Given the description of an element on the screen output the (x, y) to click on. 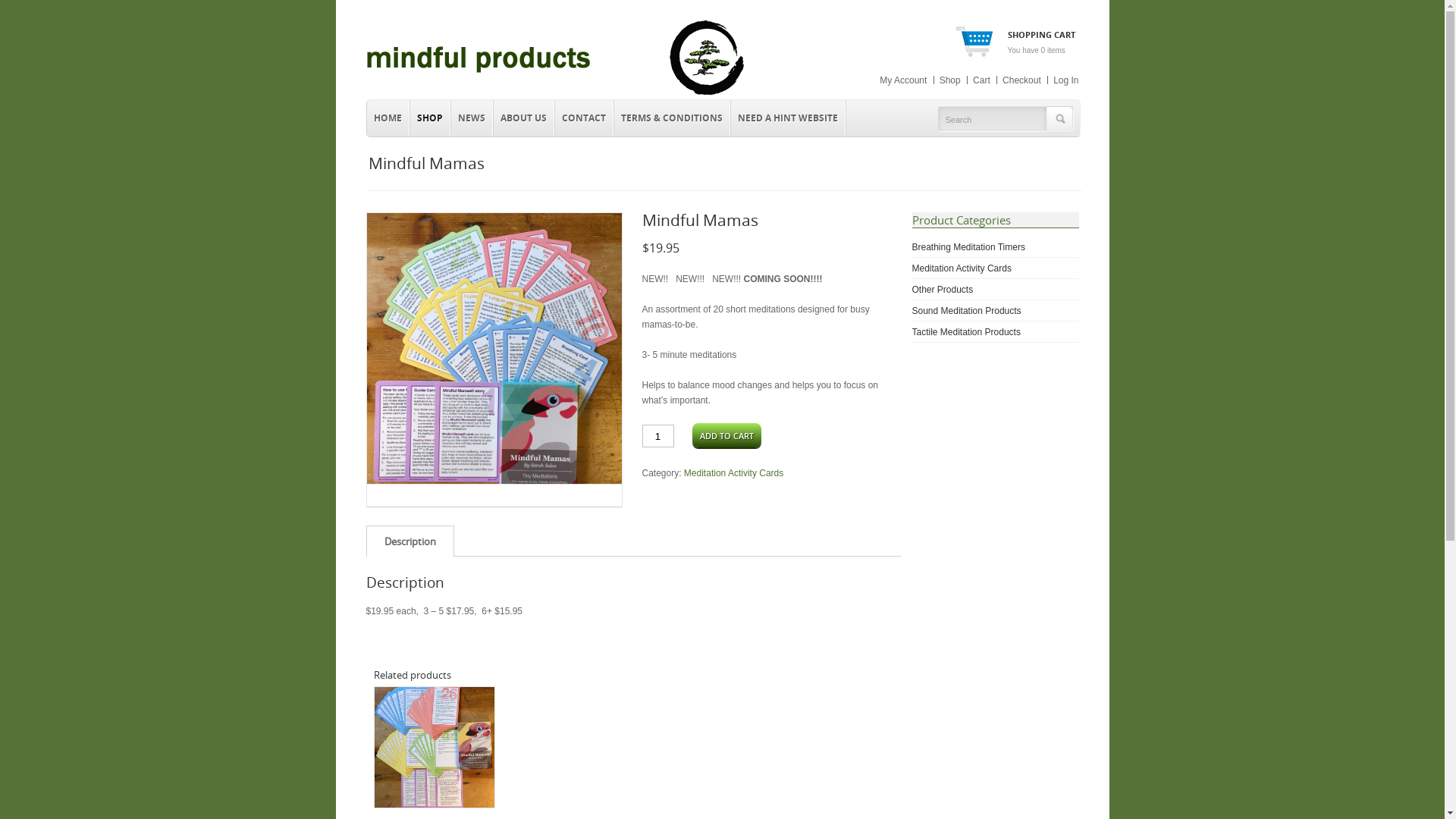
Mindful Products Element type: hover (554, 96)
Cards19Mamas1 Element type: hover (493, 359)
Tactile Meditation Products Element type: text (965, 331)
Sound Meditation Products Element type: text (965, 310)
TERMS & CONDITIONS Element type: text (672, 118)
Log In Element type: text (1065, 79)
ABOUT US Element type: text (522, 118)
NEWS Element type: text (471, 118)
ADD TO CART Element type: text (725, 435)
Meditation Activity Cards Element type: text (733, 472)
Checkout Element type: text (1021, 79)
Shop Element type: text (949, 79)
Breathing Meditation Timers Element type: text (967, 246)
My Account Element type: text (902, 79)
NEED A HINT WEBSITE Element type: text (788, 118)
Description Element type: text (409, 541)
Other Products Element type: text (941, 289)
HOME Element type: text (388, 118)
SHOP Element type: text (429, 118)
CONTACT Element type: text (584, 118)
Cart Element type: text (981, 79)
Qty Element type: hover (657, 435)
Meditation Activity Cards Element type: text (960, 268)
